Given the description of an element on the screen output the (x, y) to click on. 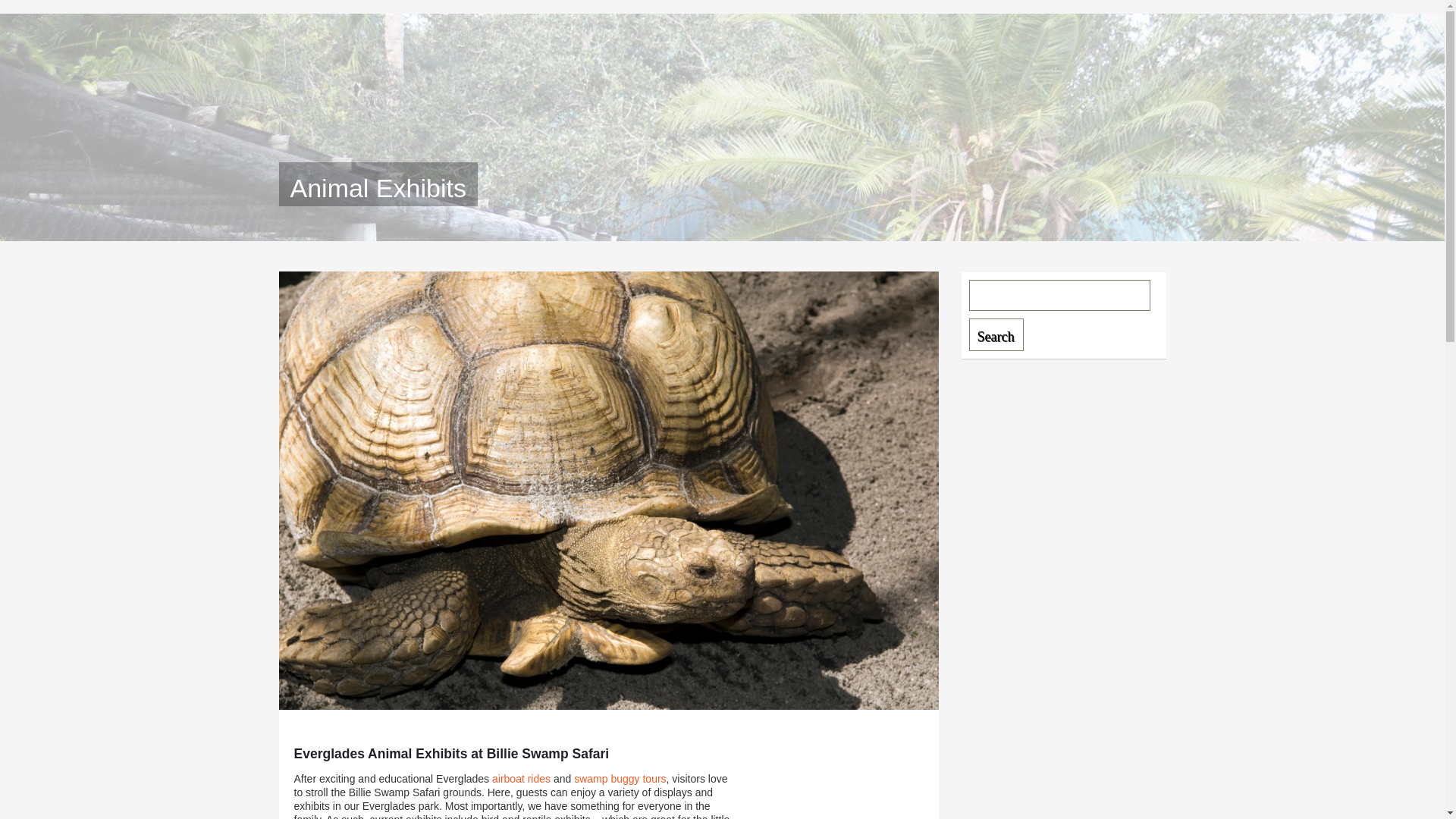
airboat rides (521, 778)
Search (997, 334)
swamp buggy tours (619, 778)
Search (997, 334)
